Given the description of an element on the screen output the (x, y) to click on. 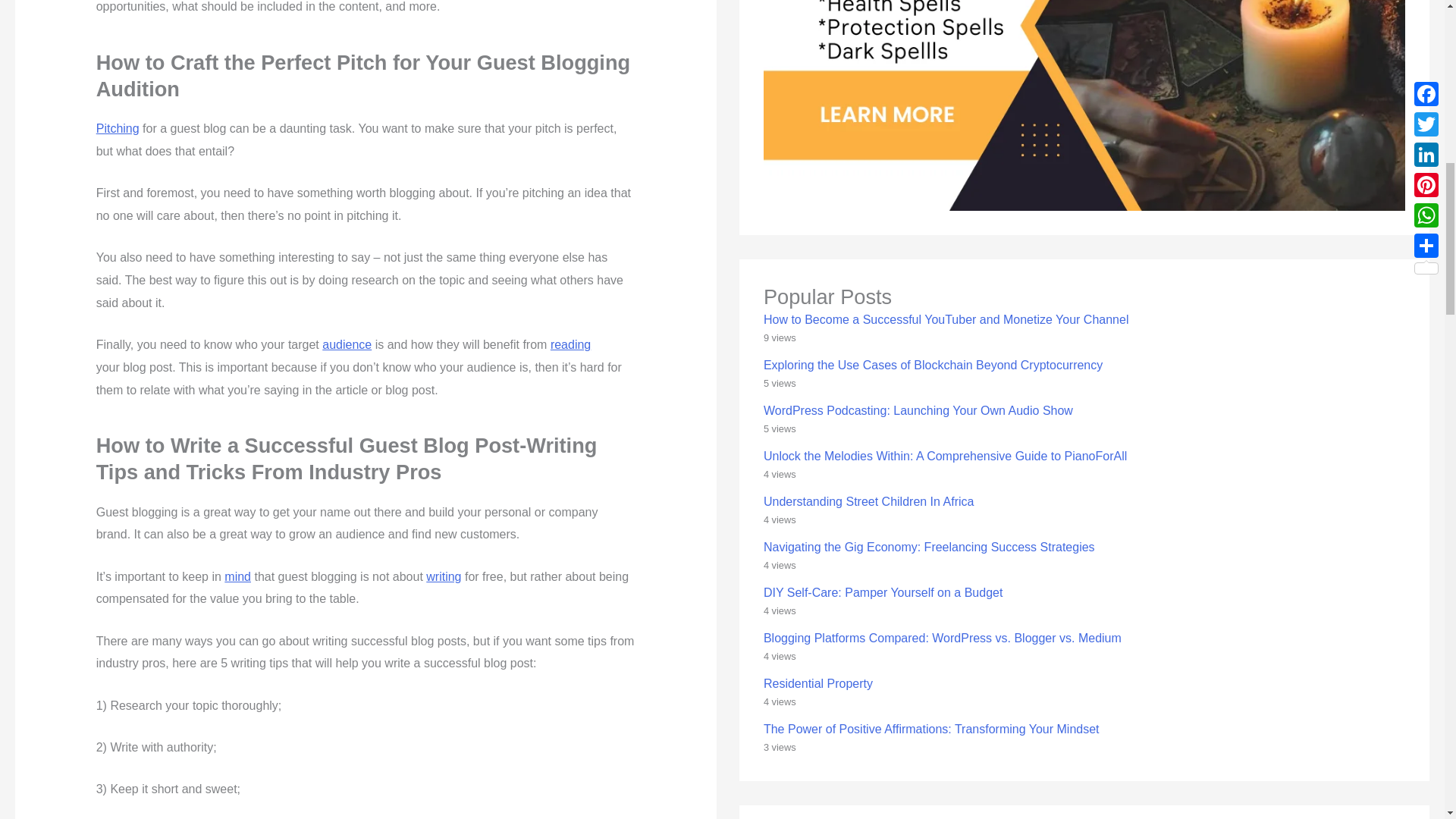
reading (570, 344)
audience (346, 344)
Pitching (117, 128)
